Given the description of an element on the screen output the (x, y) to click on. 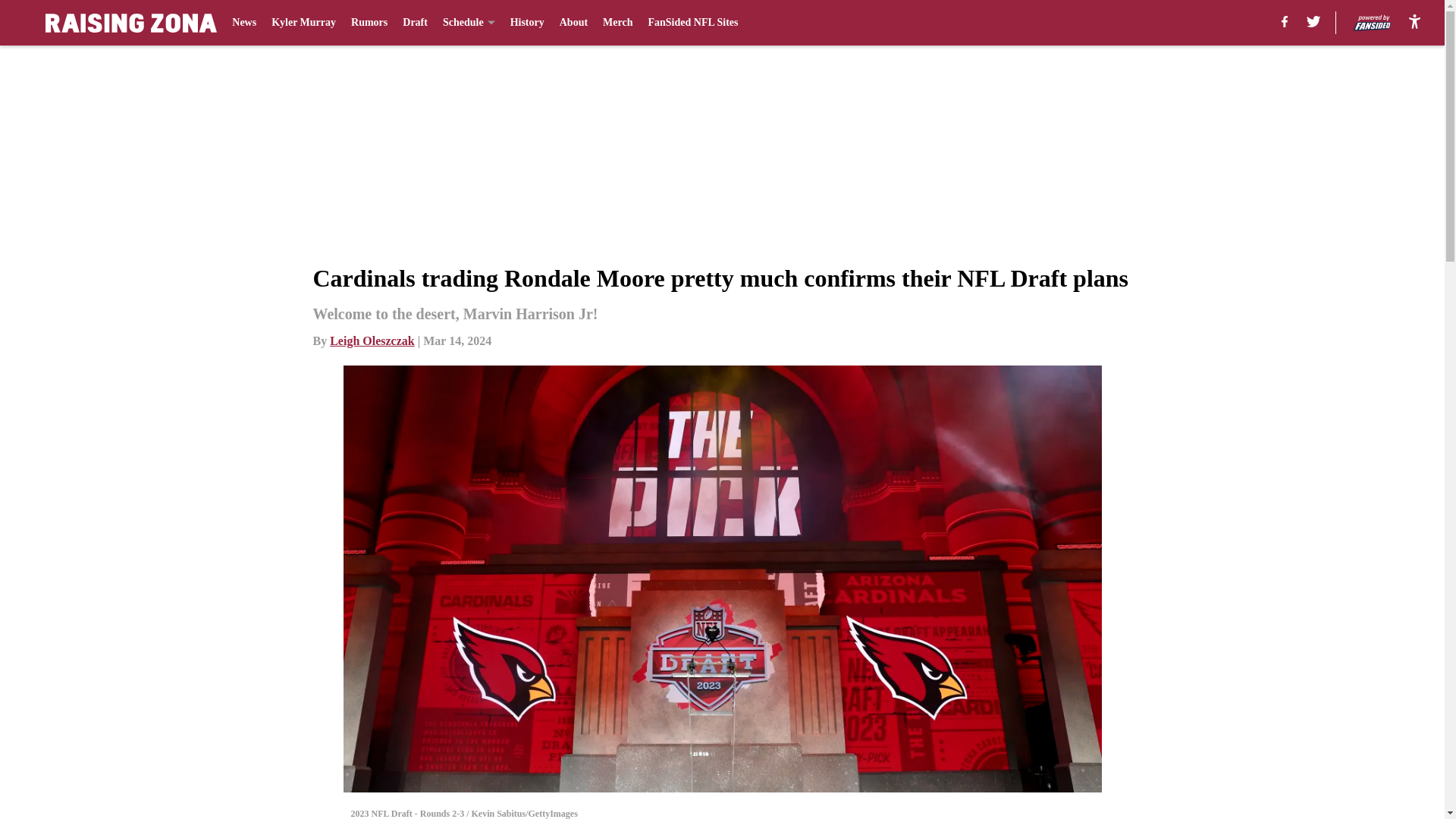
History (527, 22)
News (243, 22)
Leigh Oleszczak (372, 340)
Rumors (368, 22)
FanSided NFL Sites (692, 22)
About (573, 22)
Kyler Murray (303, 22)
Draft (415, 22)
Merch (616, 22)
